Given the description of an element on the screen output the (x, y) to click on. 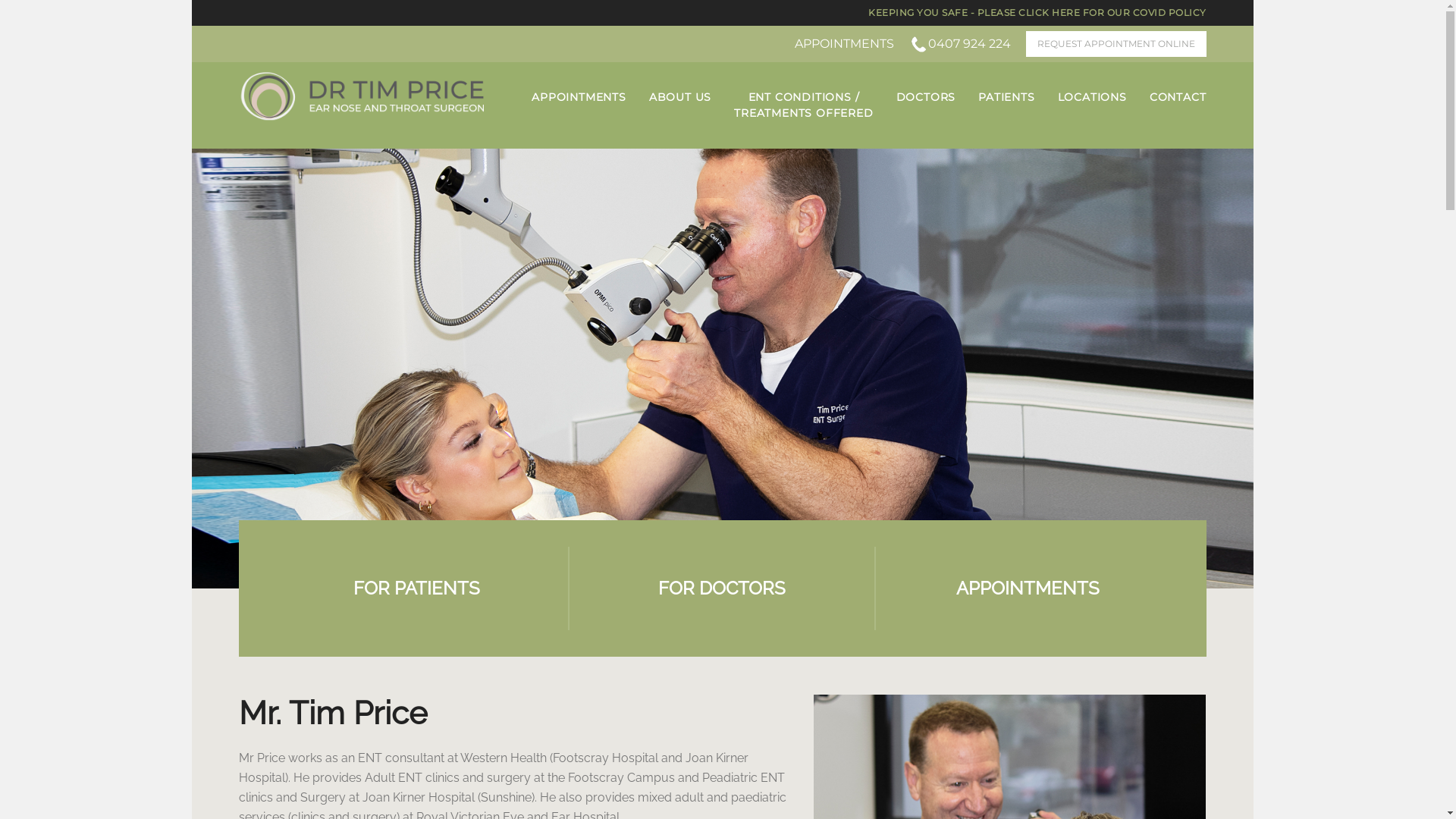
CONTACT Element type: text (1177, 97)
REQUEST APPOINTMENT ONLINE Element type: text (1115, 43)
FOR PATIENTS Element type: text (416, 588)
0407 924 224 Element type: text (959, 43)
DOCTORS Element type: text (926, 97)
LOCATIONS Element type: text (1091, 97)
PATIENTS Element type: text (1006, 97)
ABOUT US Element type: text (680, 97)
FOR DOCTORS Element type: text (721, 588)
APPOINTMENTS Element type: text (1027, 588)
APPOINTMENTS Element type: text (578, 97)
KEEPING YOU SAFE - PLEASE CLICK HERE FOR OUR COVID POLICY Element type: text (1037, 12)
ENT CONDITIONS /
TREATMENTS OFFERED Element type: text (803, 105)
